Given the description of an element on the screen output the (x, y) to click on. 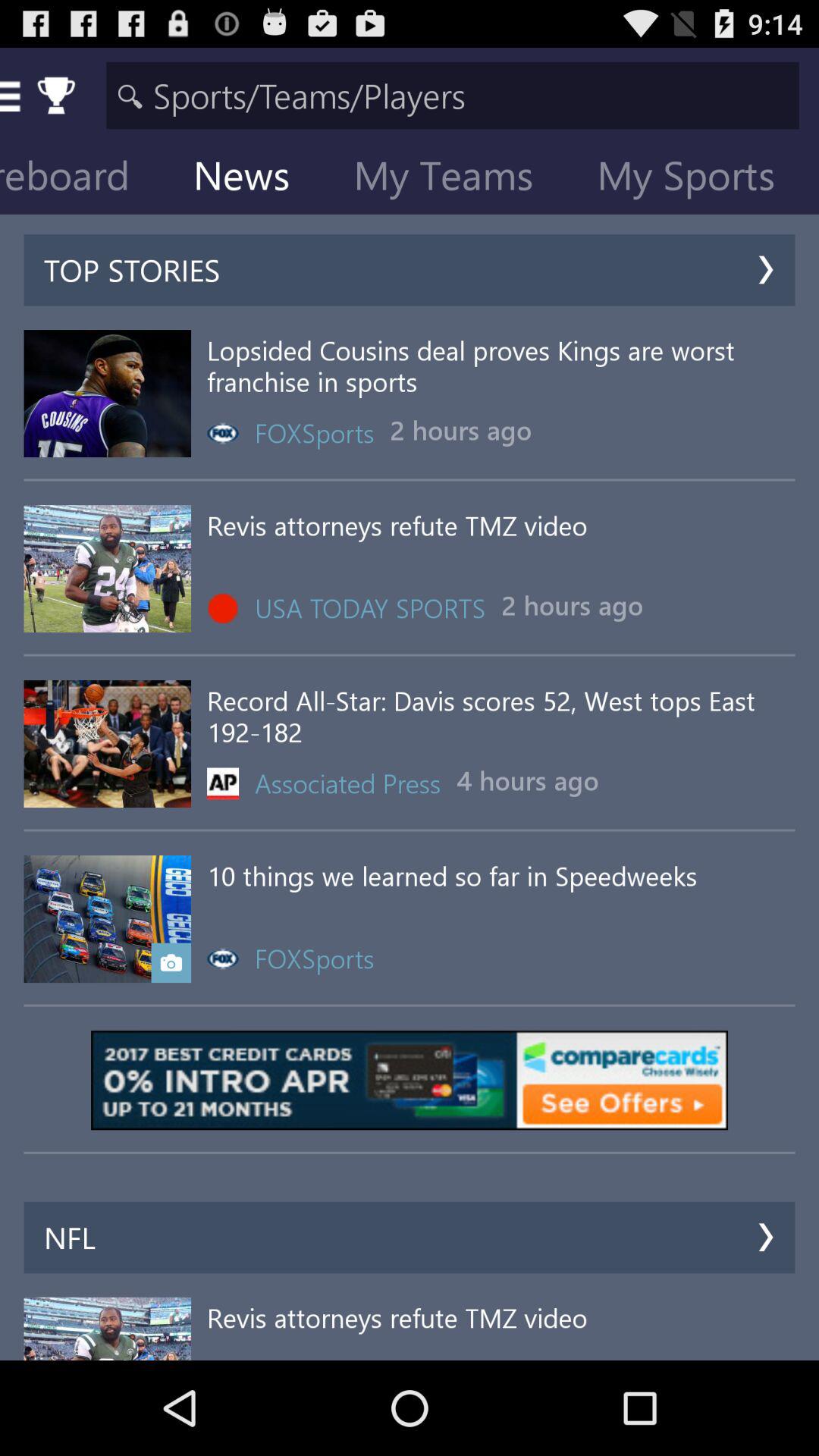
choose icon above scoreboard (452, 95)
